Given the description of an element on the screen output the (x, y) to click on. 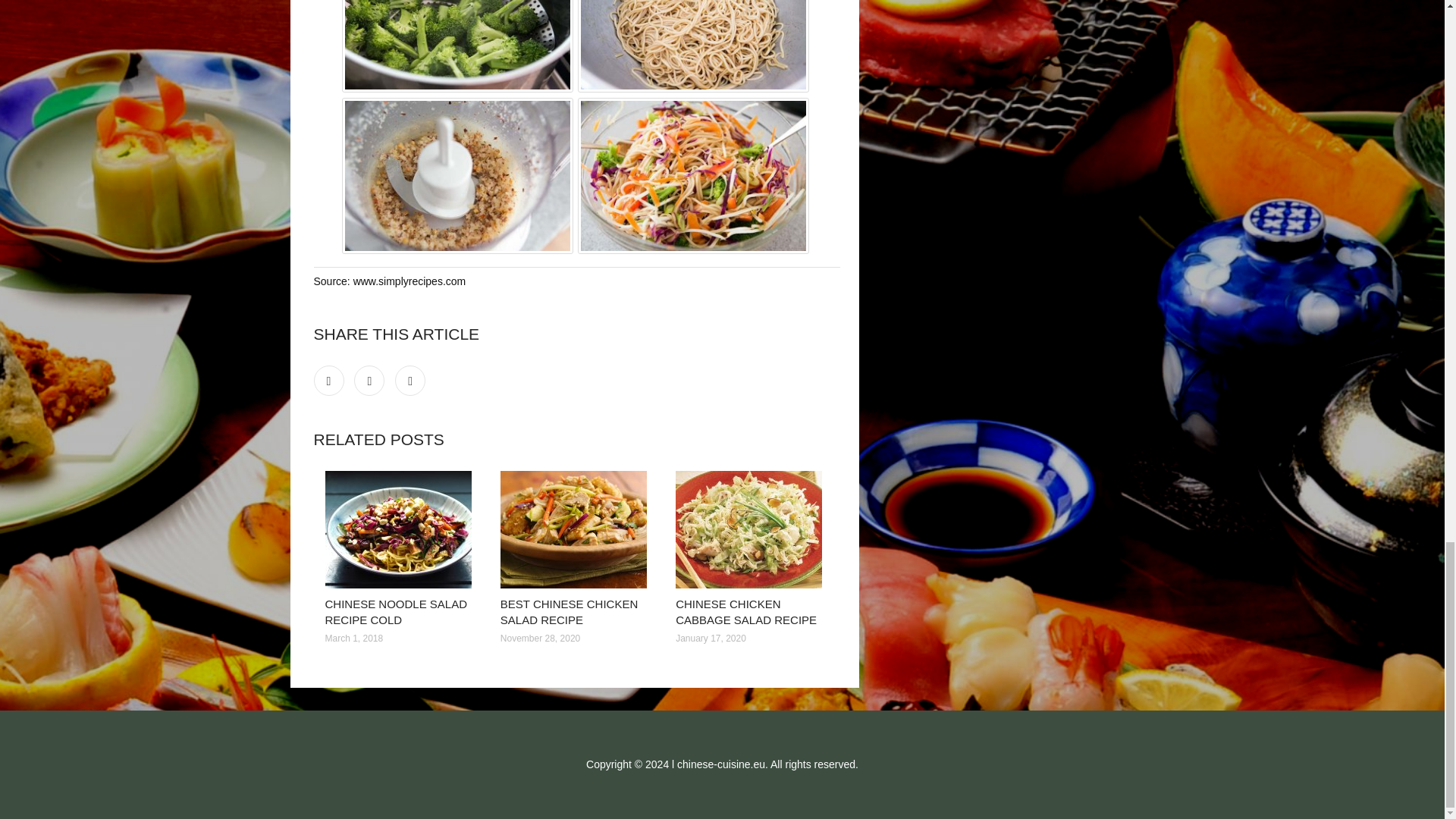
CHINESE CHICKEN CABBAGE SALAD RECIPE (745, 611)
BEST CHINESE CHICKEN SALAD RECIPE (568, 611)
CHINESE NOODLE SALAD RECIPE COLD (395, 611)
Best Chinese Chicken Salad recipe (576, 529)
Chinese Noodle Salad recipe cold (400, 529)
Chinese Chicken cabbage Salad recipe (751, 529)
